Given the description of an element on the screen output the (x, y) to click on. 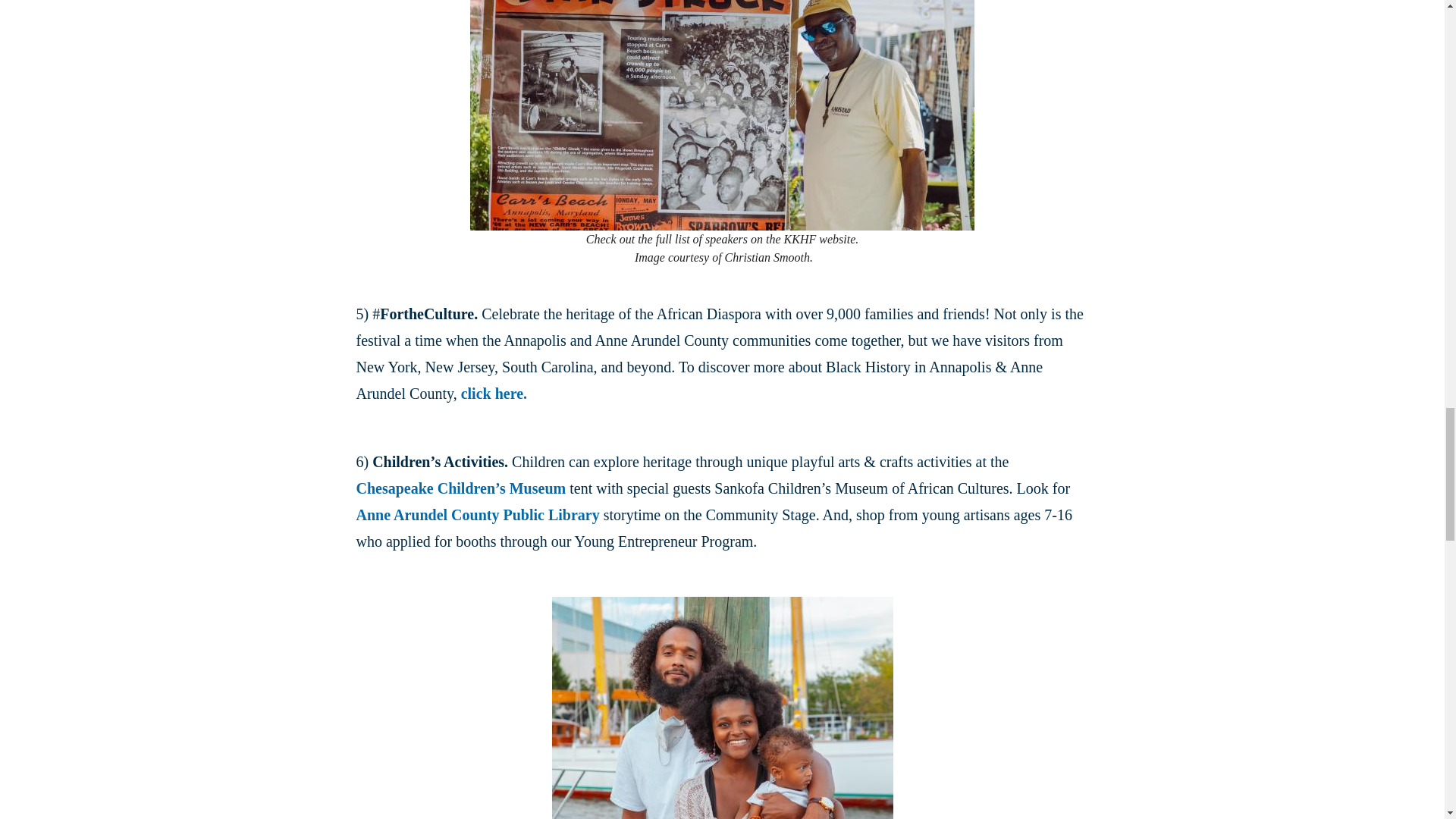
click here. (494, 393)
Anne Arundel County Public Library (477, 514)
